Given the description of an element on the screen output the (x, y) to click on. 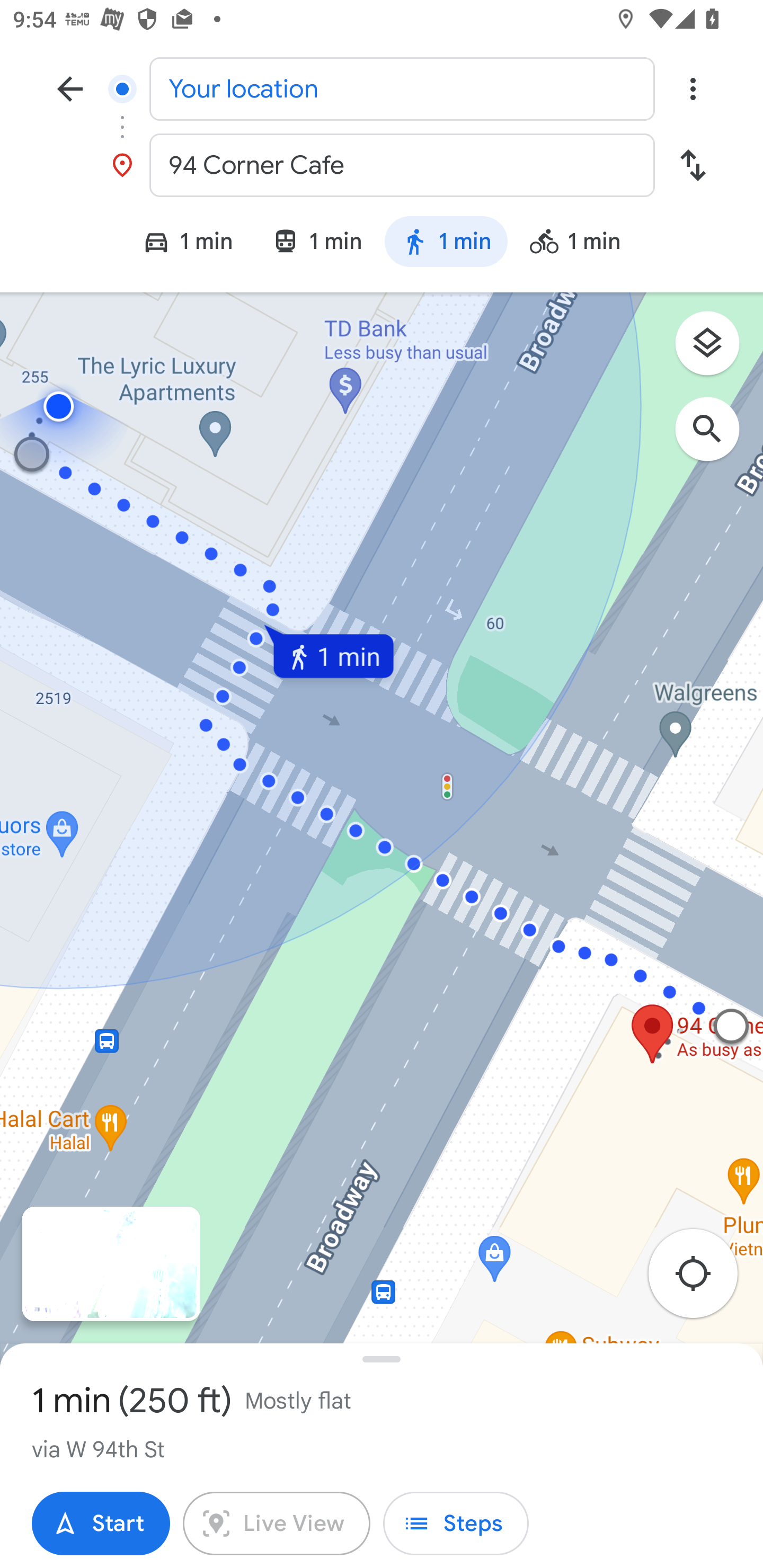
Navigate up (70, 88)
Your location Start location, Your location (381, 88)
Overflow menu (692, 88)
94 Corner Cafe Destination, 94 Corner Cafe (381, 165)
Swap start and destination (692, 165)
Driving mode: 1 min 1 min (179, 244)
Transit mode: 1 min 1 min (316, 244)
Bicycling mode: 1 min 1 min (583, 244)
Layers (716, 349)
Search along route (716, 438)
Open Immersive View for routes (110, 1264)
Re-center map to your location (702, 1279)
1 min (250 ft) Mostly flat via W 94th St (381, 1420)
Live View Live View Live View (276, 1522)
Steps Steps Steps (455, 1522)
